Given the description of an element on the screen output the (x, y) to click on. 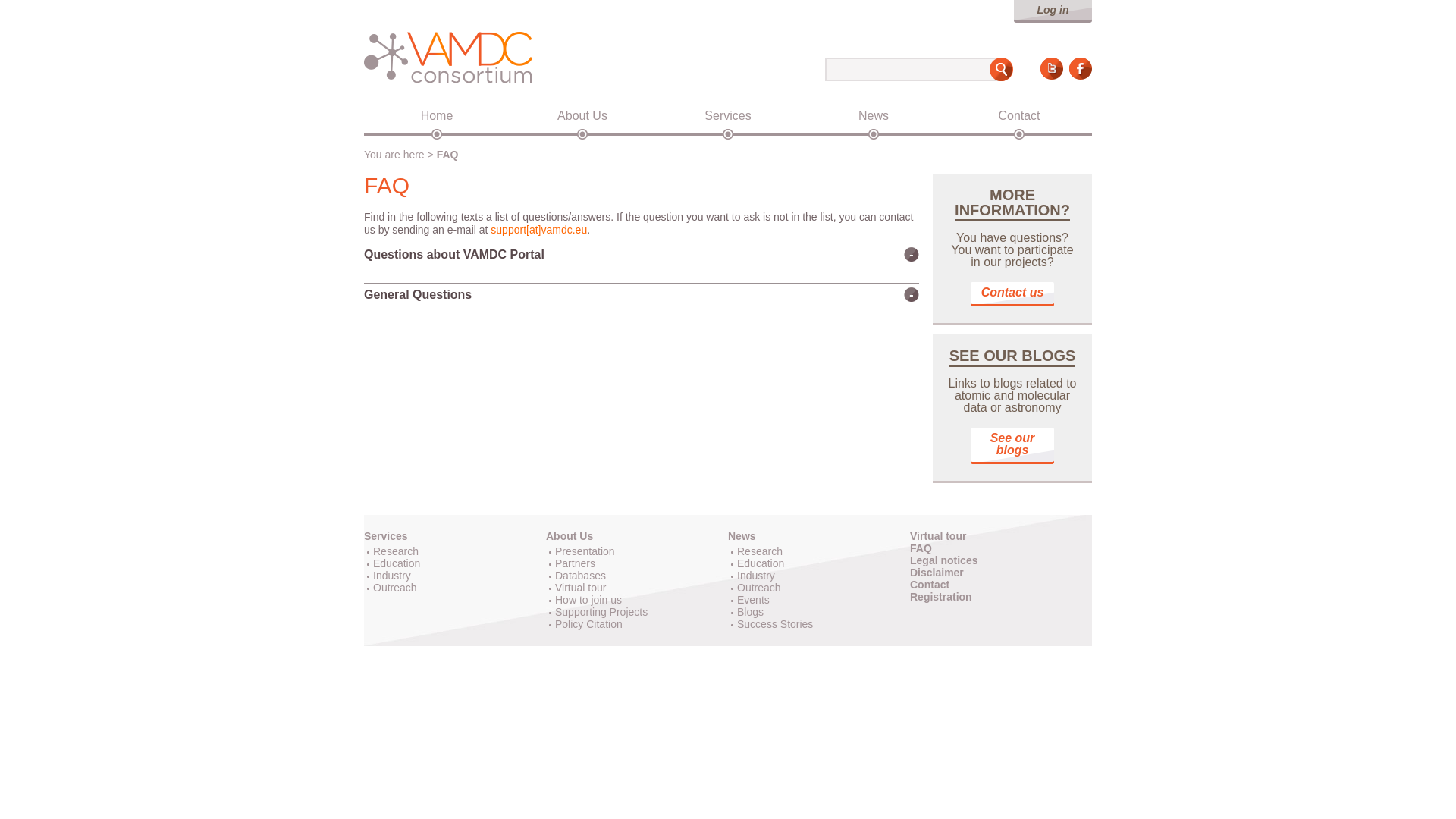
Research (395, 551)
Databases (579, 575)
Partners (574, 563)
Presentation (584, 551)
Education (396, 563)
Outreach (394, 587)
Our blogs (1012, 445)
Join us on Twitter (1051, 68)
About Us (569, 535)
Contact (1019, 115)
Industry (391, 575)
Home (436, 115)
Log in (1052, 11)
Services (385, 535)
Join us on Facebook (1080, 68)
